Given the description of an element on the screen output the (x, y) to click on. 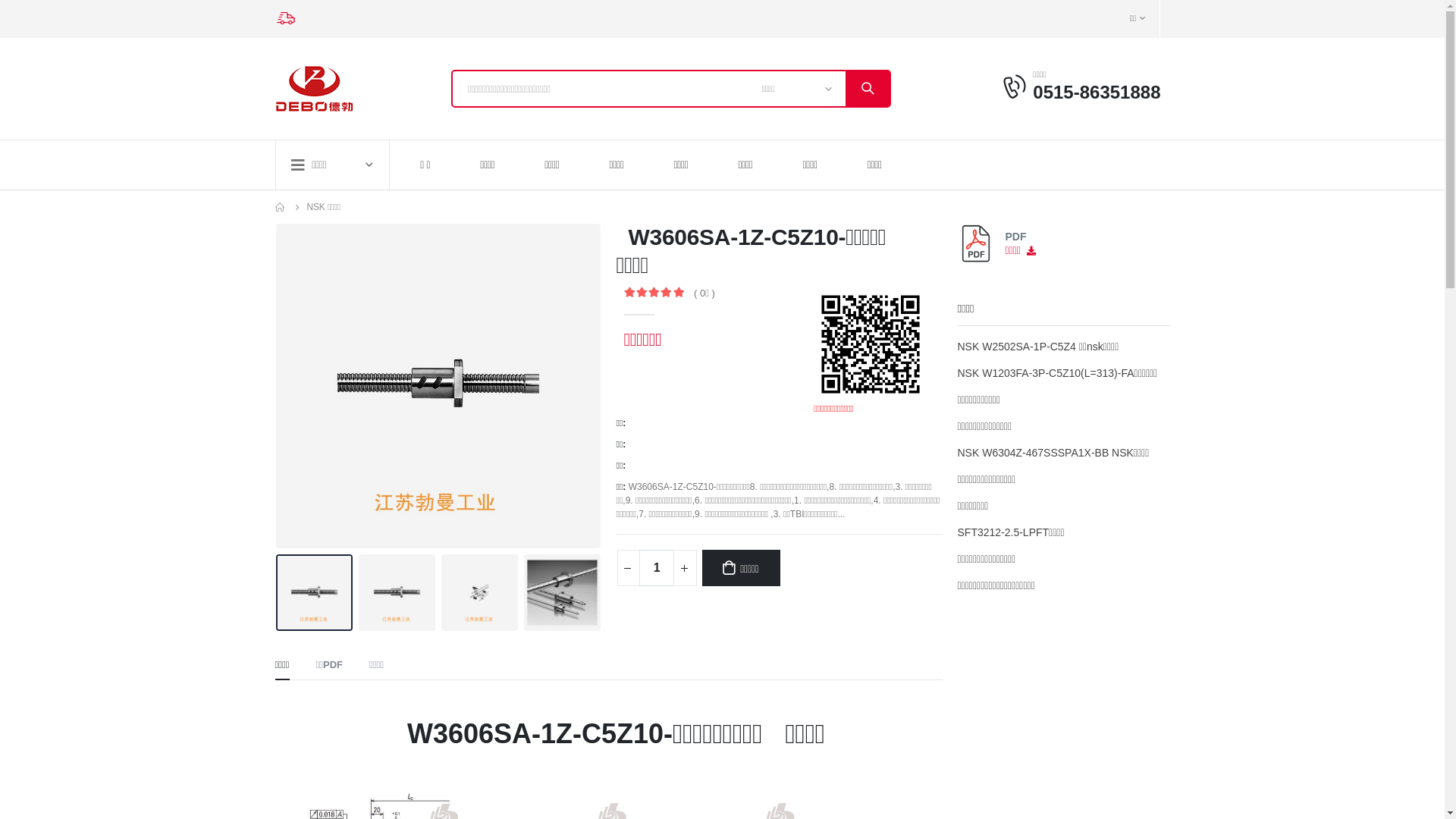
search Element type: hover (867, 88)
login Element type: hover (1016, 86)
